Given the description of an element on the screen output the (x, y) to click on. 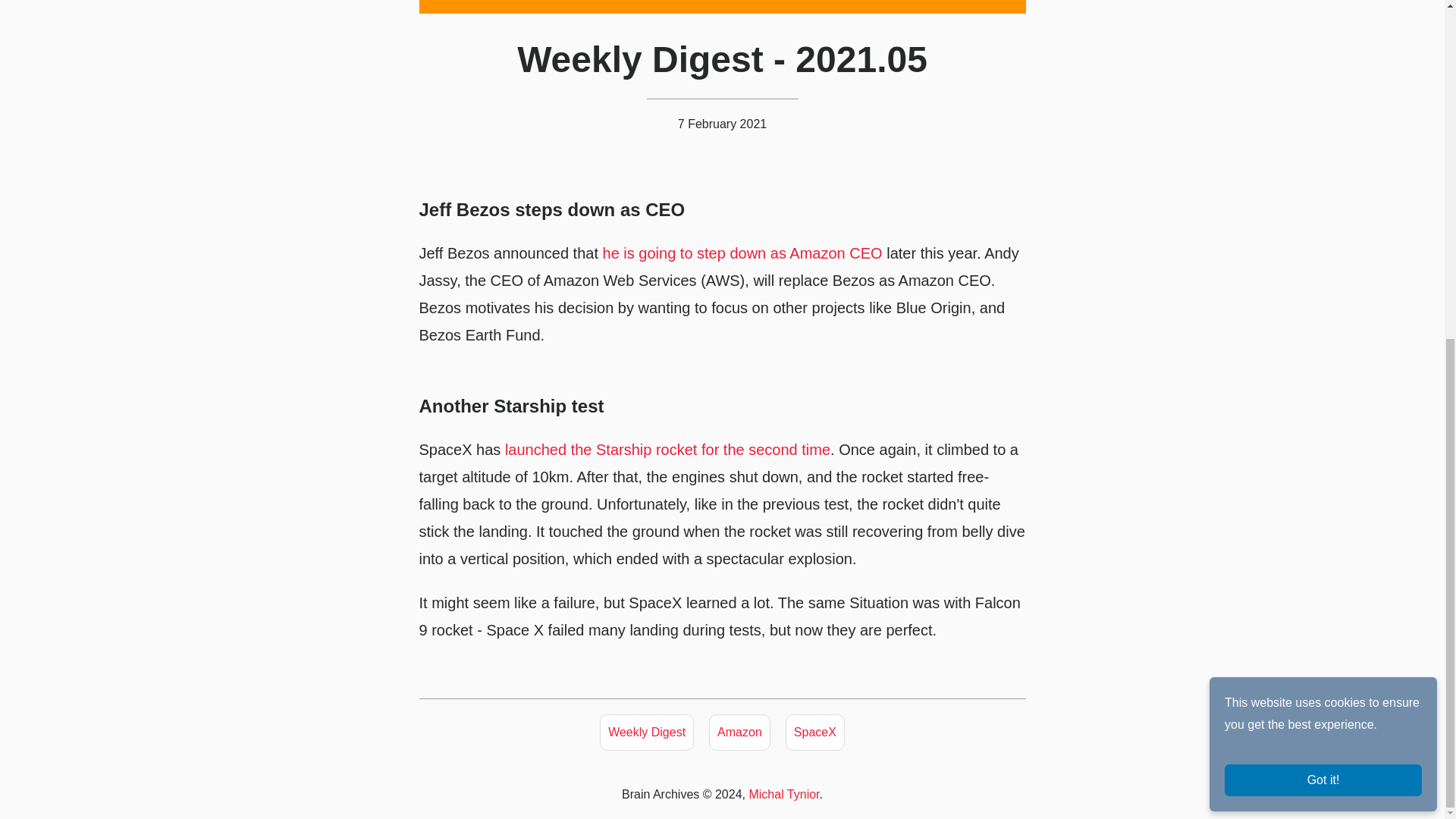
Got it! (1323, 206)
he is going to step down as Amazon CEO (742, 252)
Weekly Digest (646, 732)
SpaceX (815, 732)
Amazon (739, 732)
Amazon (739, 732)
launched the Starship rocket for the second time (667, 449)
SpaceX (815, 732)
Weekly Digest (646, 732)
Michal Tynior (783, 793)
